Given the description of an element on the screen output the (x, y) to click on. 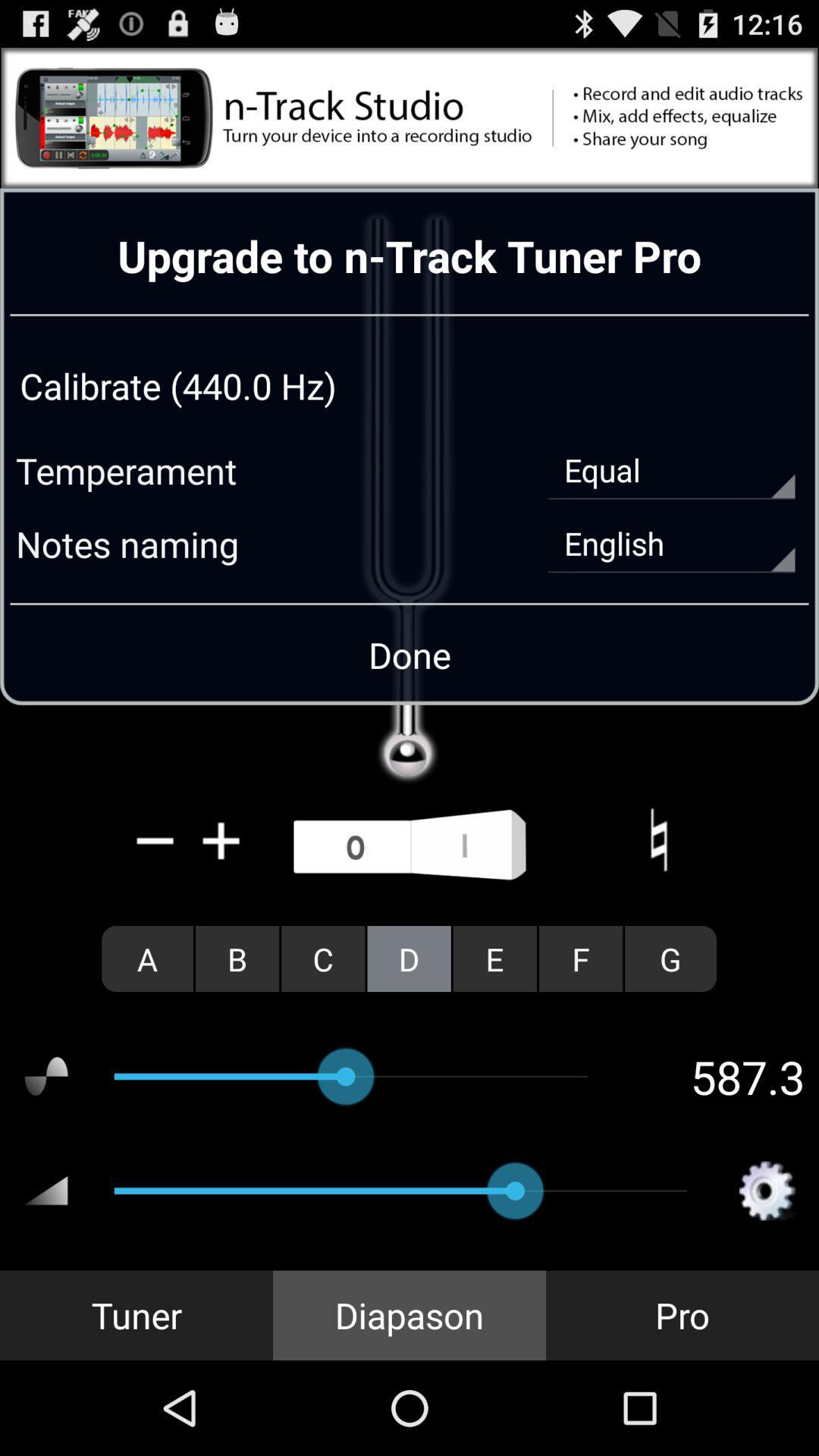
press item next to g (580, 958)
